Given the description of an element on the screen output the (x, y) to click on. 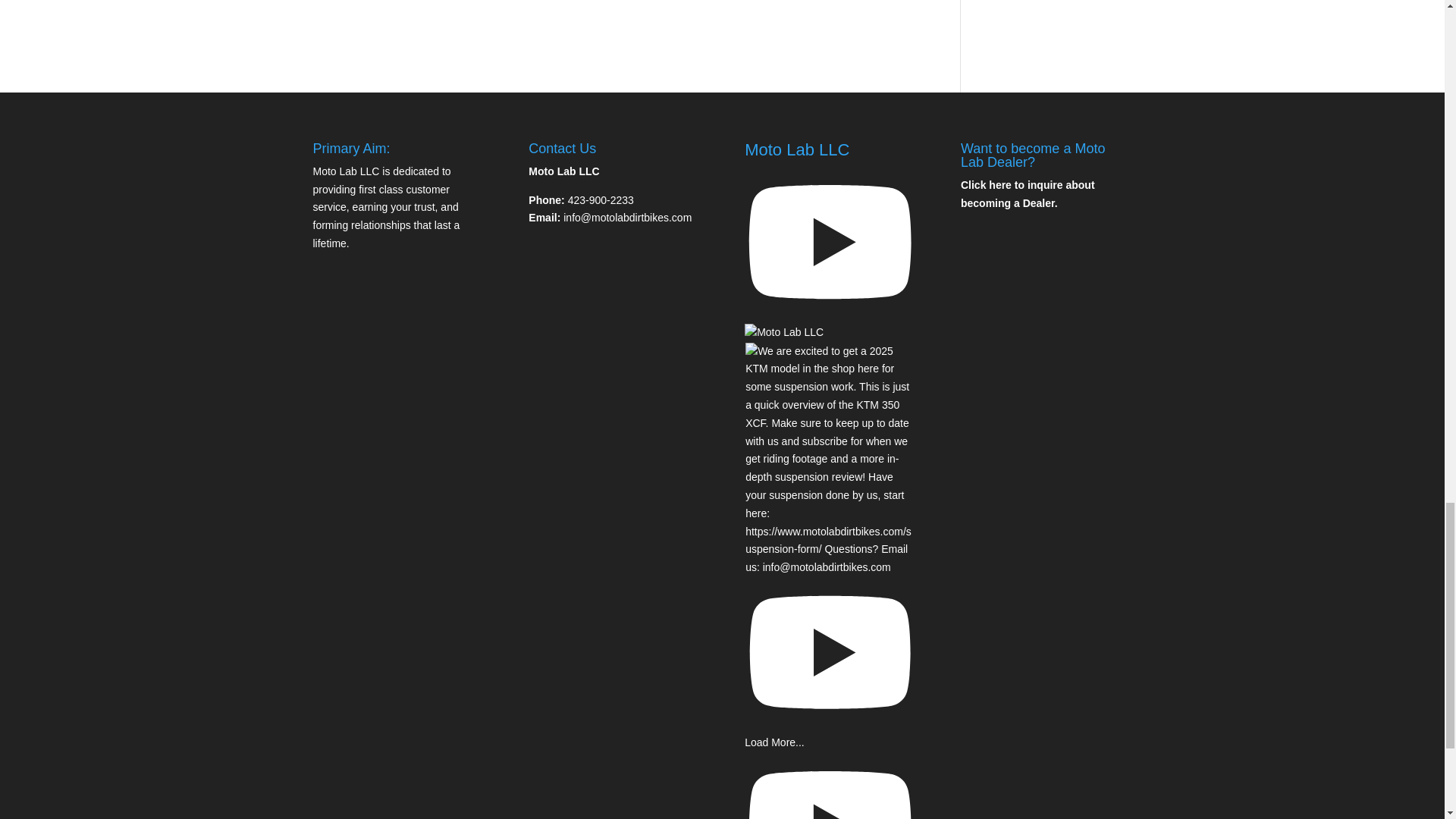
Load More... (774, 742)
Click here to inquire about becoming a Dealer. (1027, 194)
423-900-2233 (600, 200)
